Given the description of an element on the screen output the (x, y) to click on. 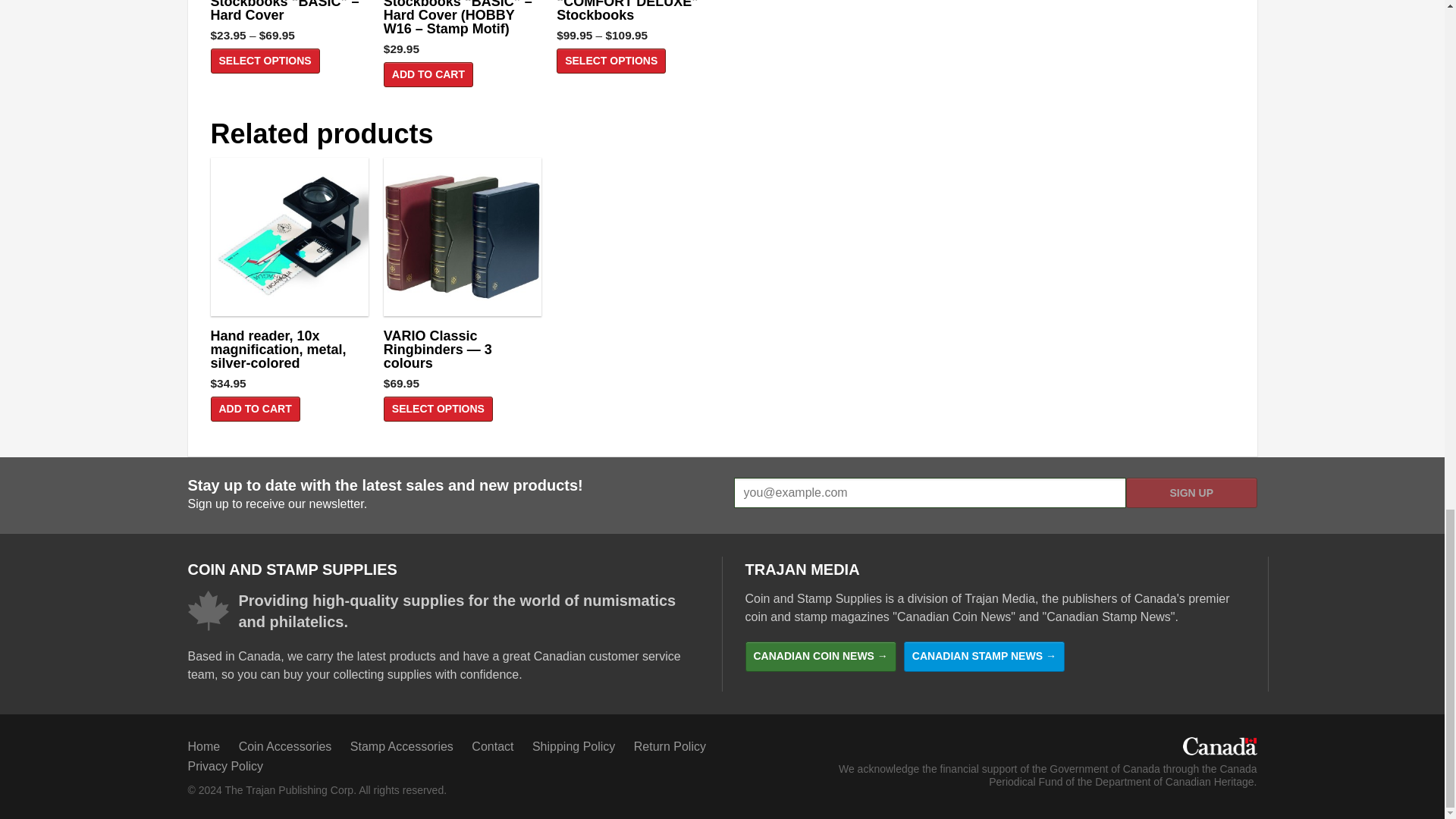
Sign Up (1191, 492)
Canadian Coin News (819, 656)
Canadian Stamp News (984, 656)
